Given the description of an element on the screen output the (x, y) to click on. 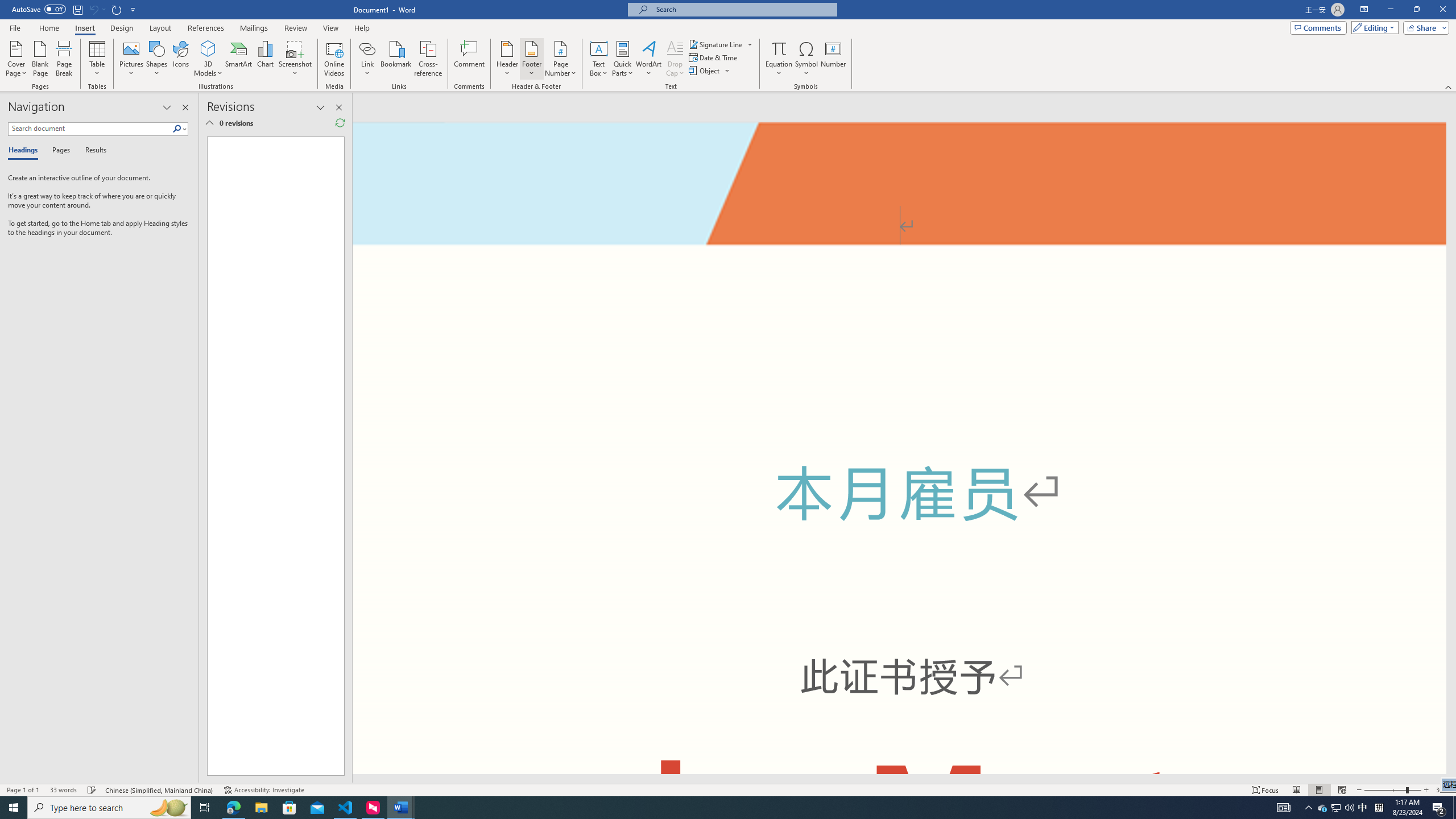
Signature Line (716, 44)
Object... (709, 69)
Quick Parts (622, 58)
Symbol (806, 58)
